Given the description of an element on the screen output the (x, y) to click on. 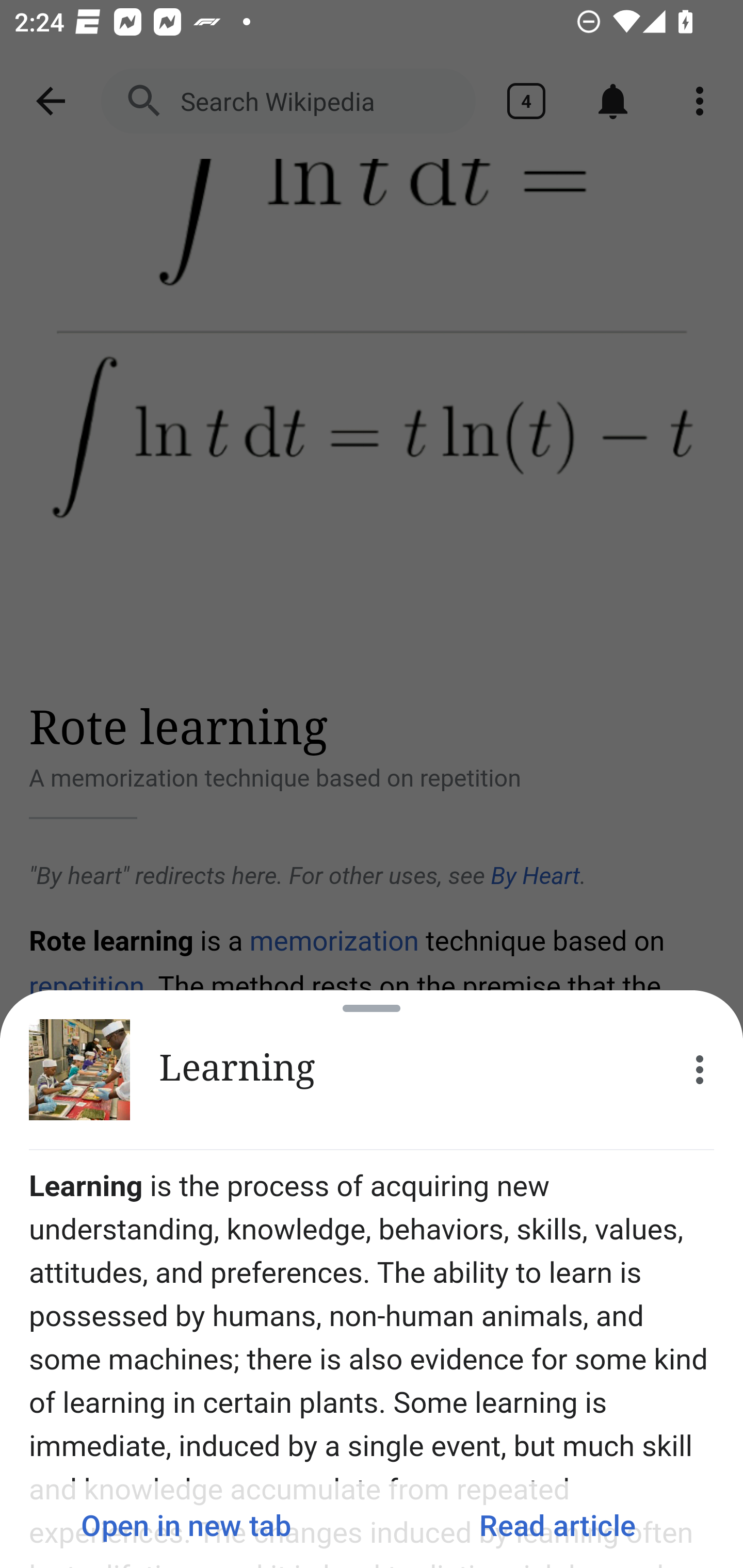
Learning More options (371, 1069)
More options (699, 1070)
Open in new tab (185, 1524)
Read article (557, 1524)
